Given the description of an element on the screen output the (x, y) to click on. 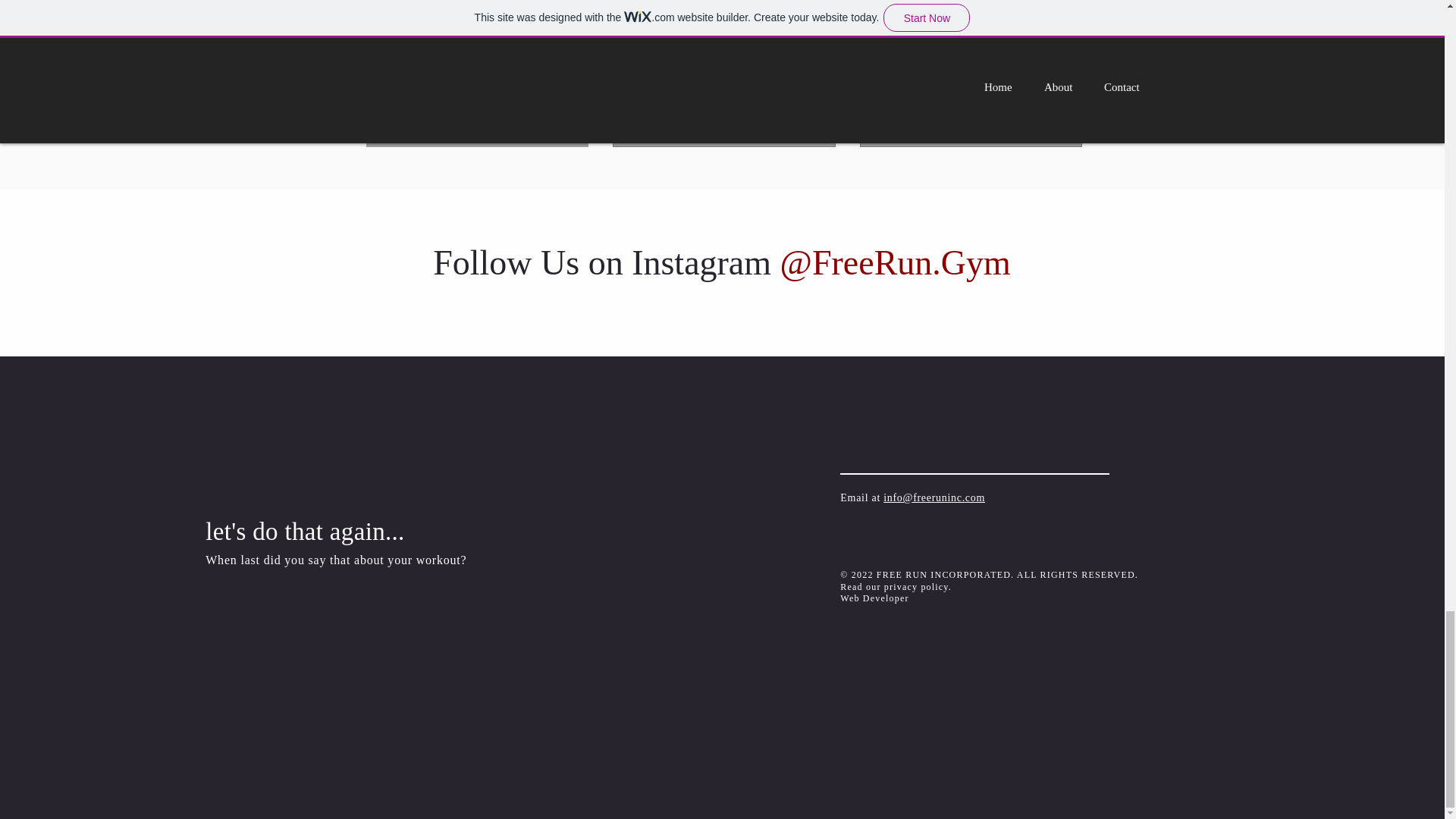
NEW Virtual Workout Series (970, 102)
Read our privacy policy. (896, 586)
What is Mobility? And why its important. (476, 102)
Web Developer (874, 597)
